Given the description of an element on the screen output the (x, y) to click on. 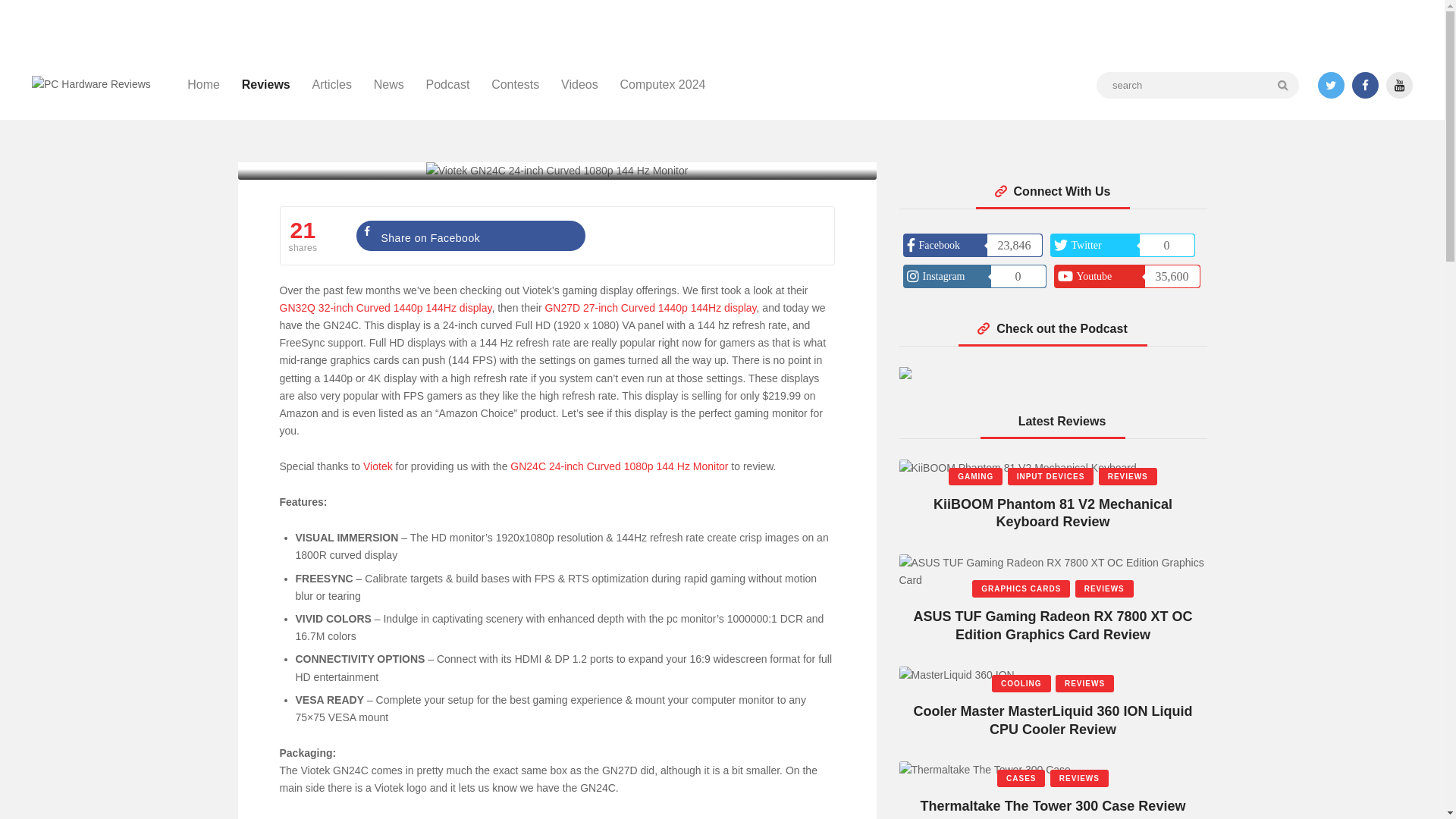
Reviews (265, 85)
Share on X (703, 235)
Articles (331, 85)
Share on Facebook (470, 235)
Home (203, 85)
News (388, 85)
